Given the description of an element on the screen output the (x, y) to click on. 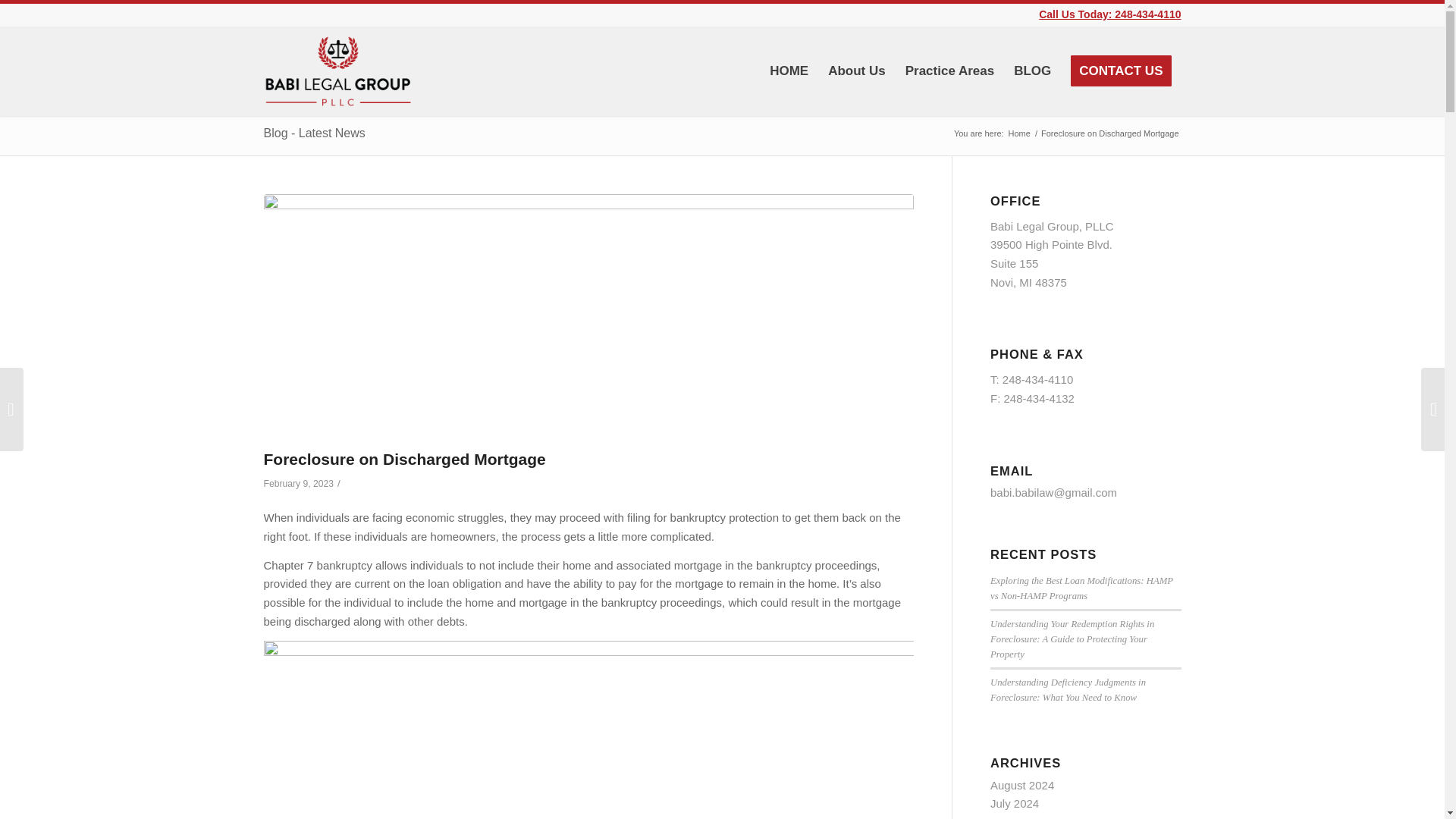
Permanent Link: Blog - Latest News (314, 132)
CONTACT US (1120, 71)
Call Us Today: 248-434-4110 (1109, 14)
Practice Areas (949, 71)
Permanent Link: Foreclosure on Discharged Mortgage (404, 458)
babilegalgroup.com (1019, 133)
